Given the description of an element on the screen output the (x, y) to click on. 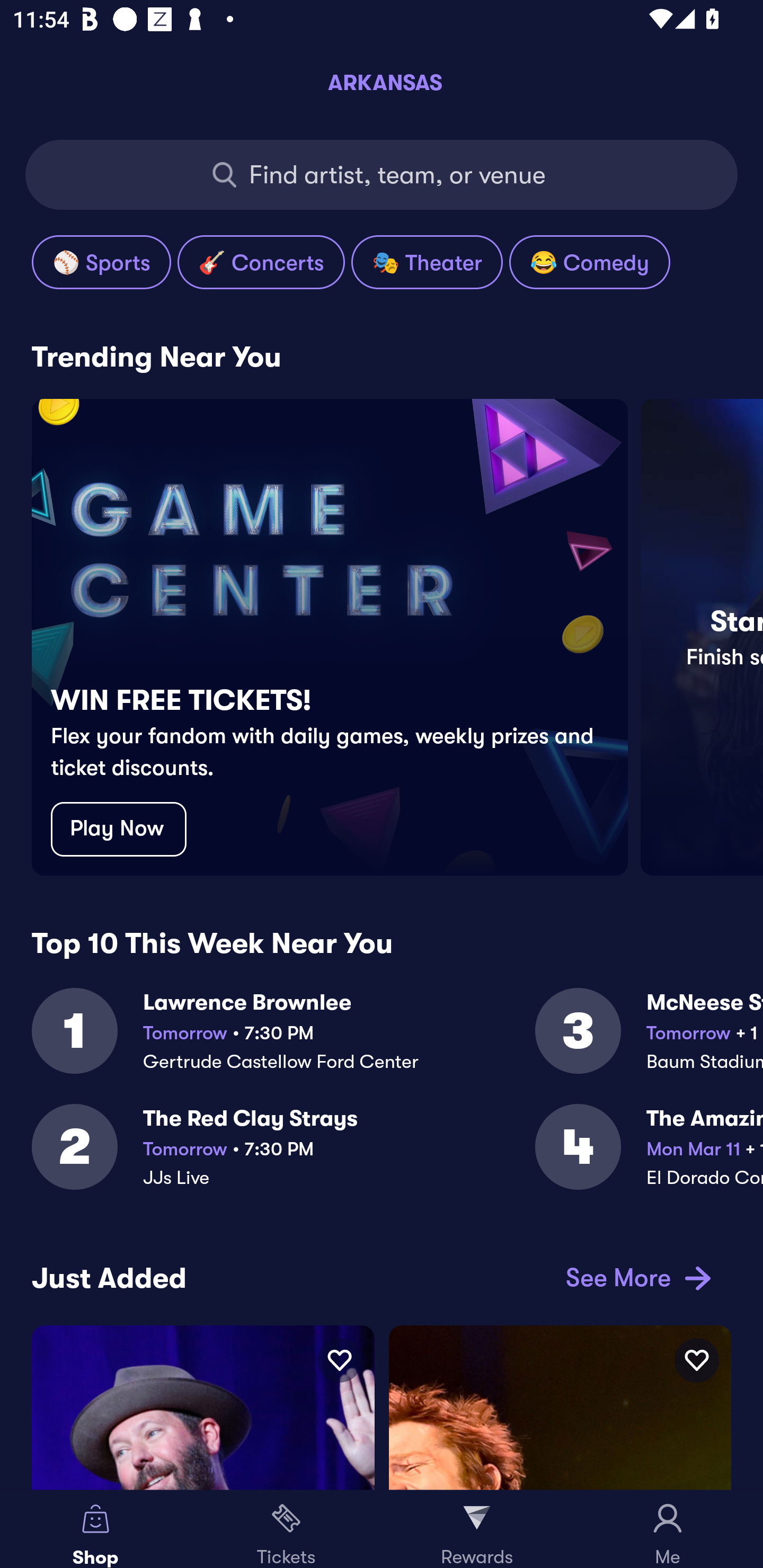
ARKANSAS (381, 81)
Find artist, team, or venue (381, 174)
⚾ Sports (101, 261)
🎸 Concerts (261, 261)
🎭 Theater (426, 261)
😂 Comedy (589, 261)
2 The Red Clay Strays Tomorrow  • 7:30 PM JJs Live (283, 1158)
See More (635, 1277)
icon button (339, 1359)
icon button (696, 1359)
Shop (95, 1529)
Tickets (285, 1529)
Rewards (476, 1529)
Me (667, 1529)
